Given the description of an element on the screen output the (x, y) to click on. 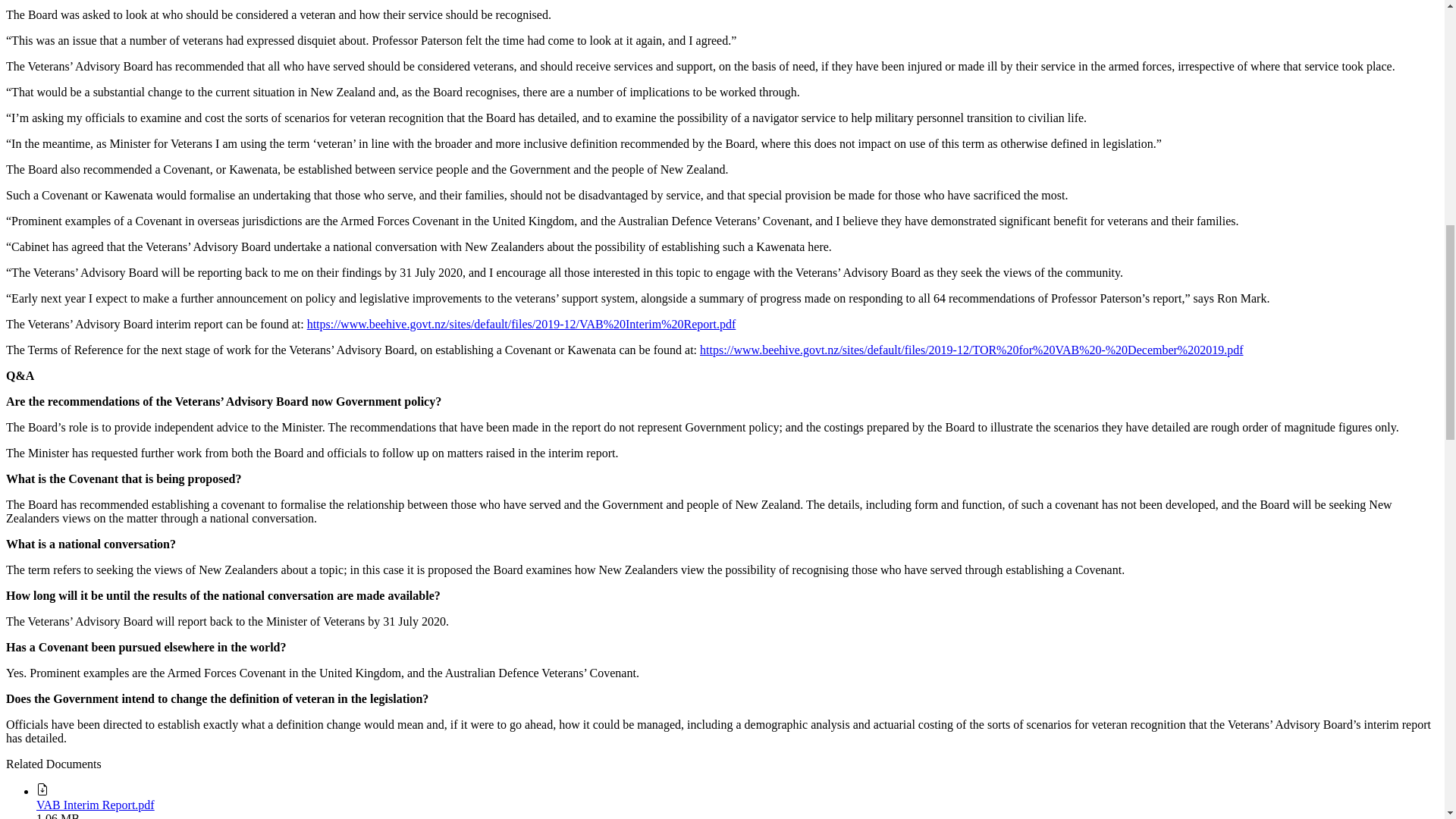
VAB Interim Report.pdf (95, 804)
Open file in new window (95, 804)
